Given the description of an element on the screen output the (x, y) to click on. 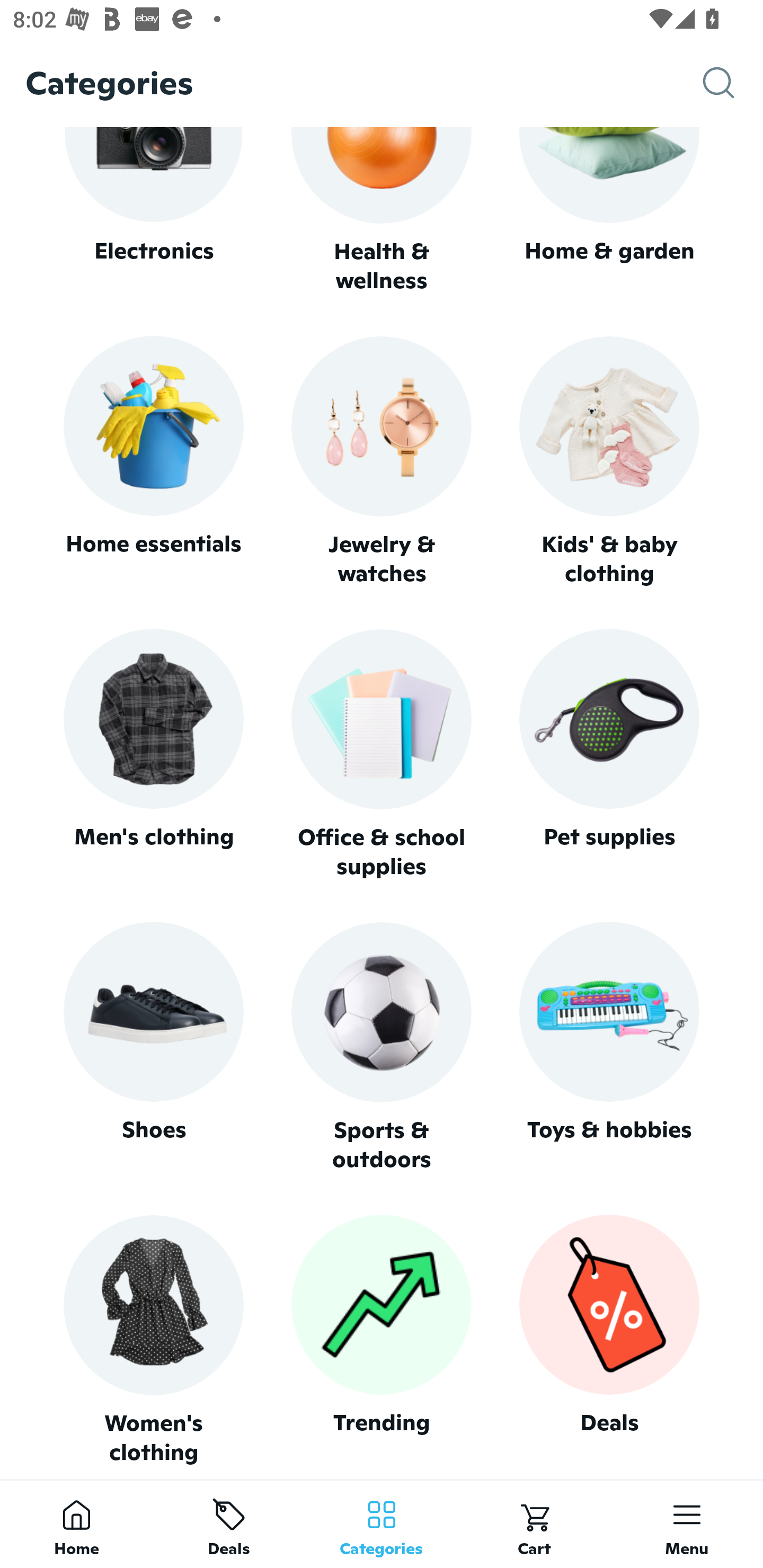
Search (732, 82)
Electronics (153, 210)
Health & wellness (381, 210)
Home & garden (609, 210)
Home essentials (153, 461)
Jewelry & watches (381, 462)
Kids' & baby clothing (609, 462)
Men's clothing (153, 753)
Pet supplies (609, 753)
Office & school supplies (381, 753)
Shoes (153, 1046)
Toys & hobbies (609, 1046)
Sports & outdoors (381, 1046)
Trending (381, 1340)
Deals (609, 1340)
Women's clothing (153, 1340)
Home (76, 1523)
Deals (228, 1523)
Categories (381, 1523)
Cart (533, 1523)
Menu (686, 1523)
